Given the description of an element on the screen output the (x, y) to click on. 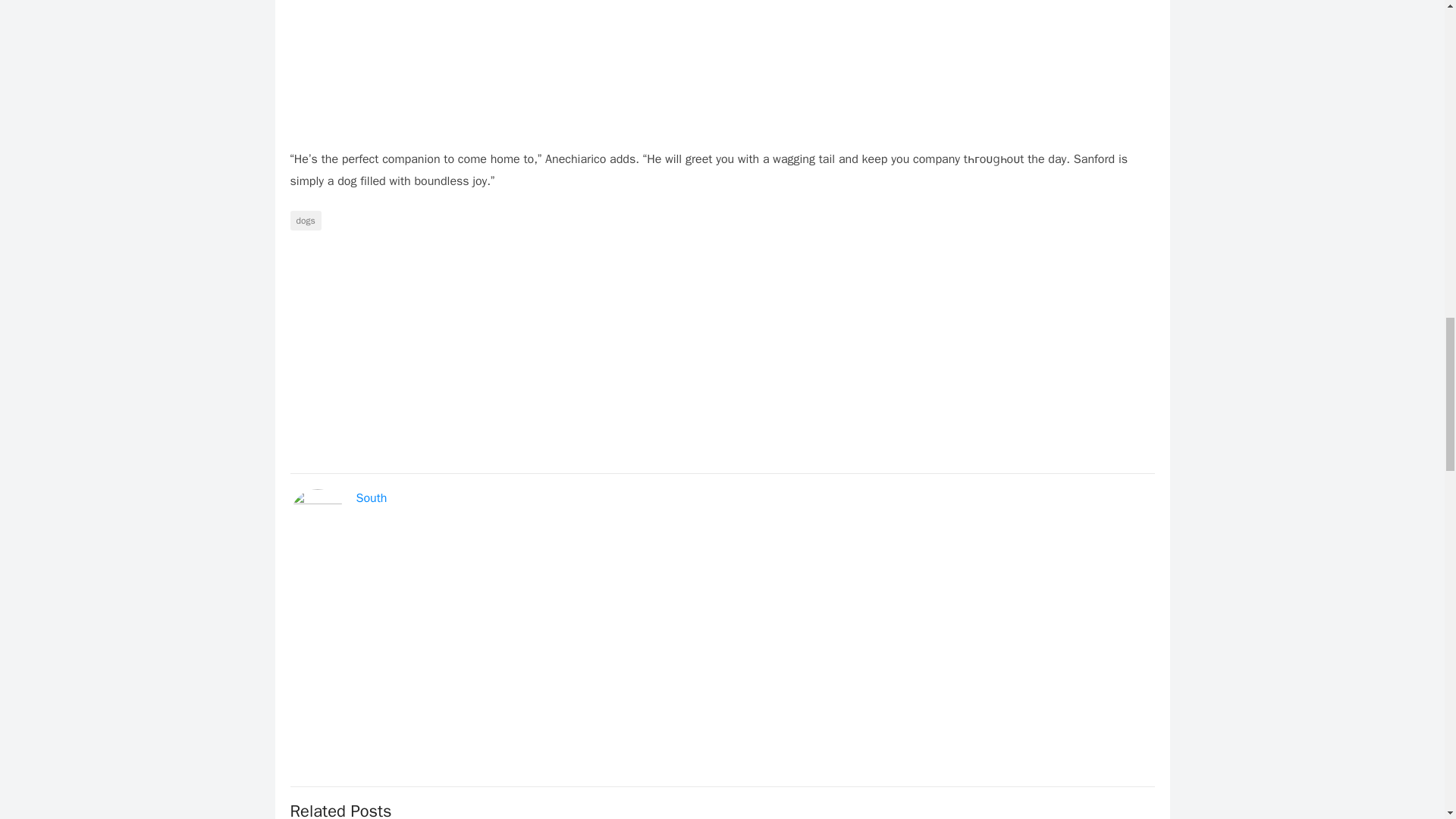
dogs (304, 220)
South (371, 498)
